Given the description of an element on the screen output the (x, y) to click on. 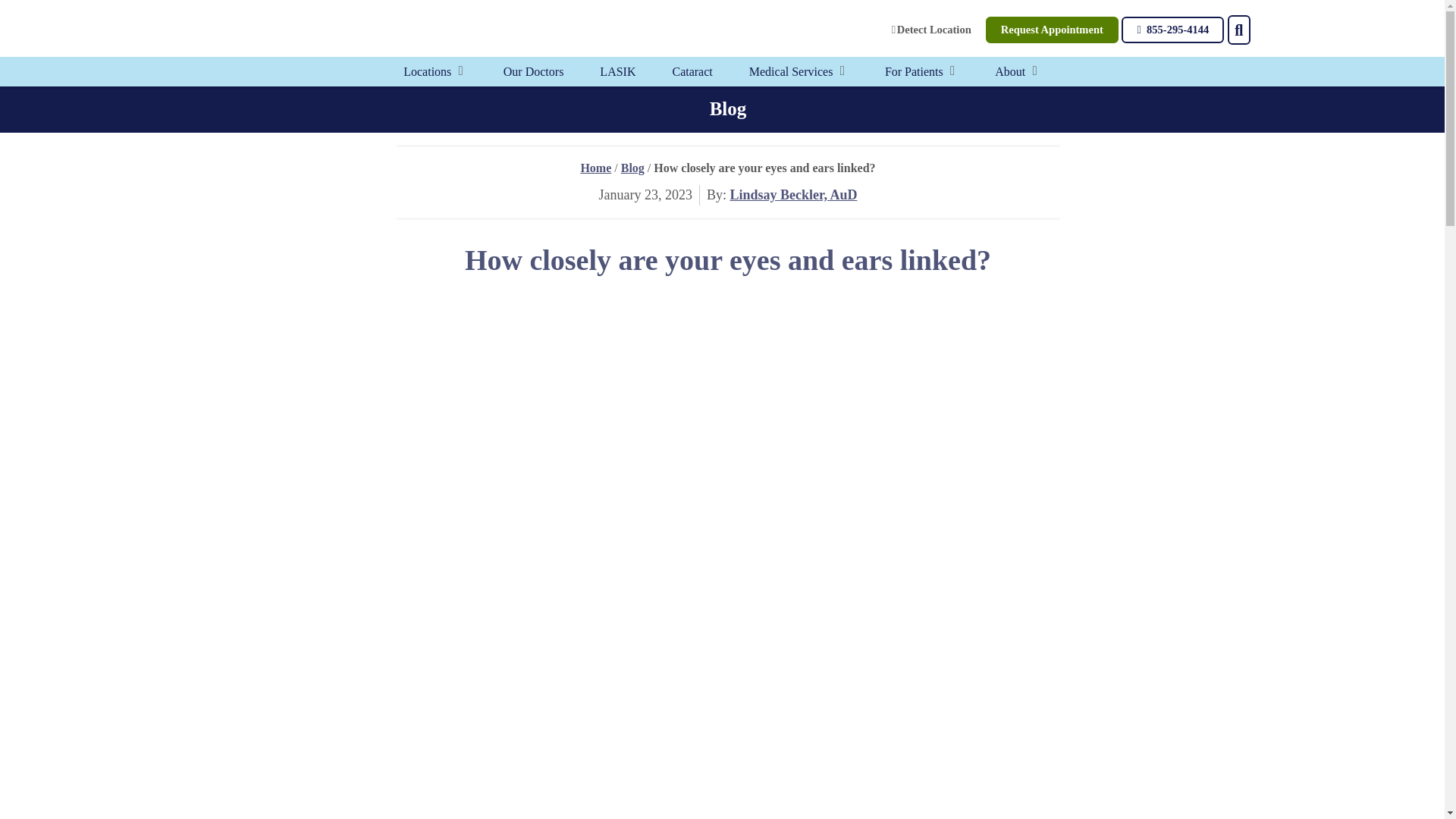
About (1009, 71)
Our Doctors (533, 71)
Locations (427, 71)
LASIK (616, 71)
Cataract (691, 71)
For Patients (914, 71)
Medical Services (790, 71)
